Given the description of an element on the screen output the (x, y) to click on. 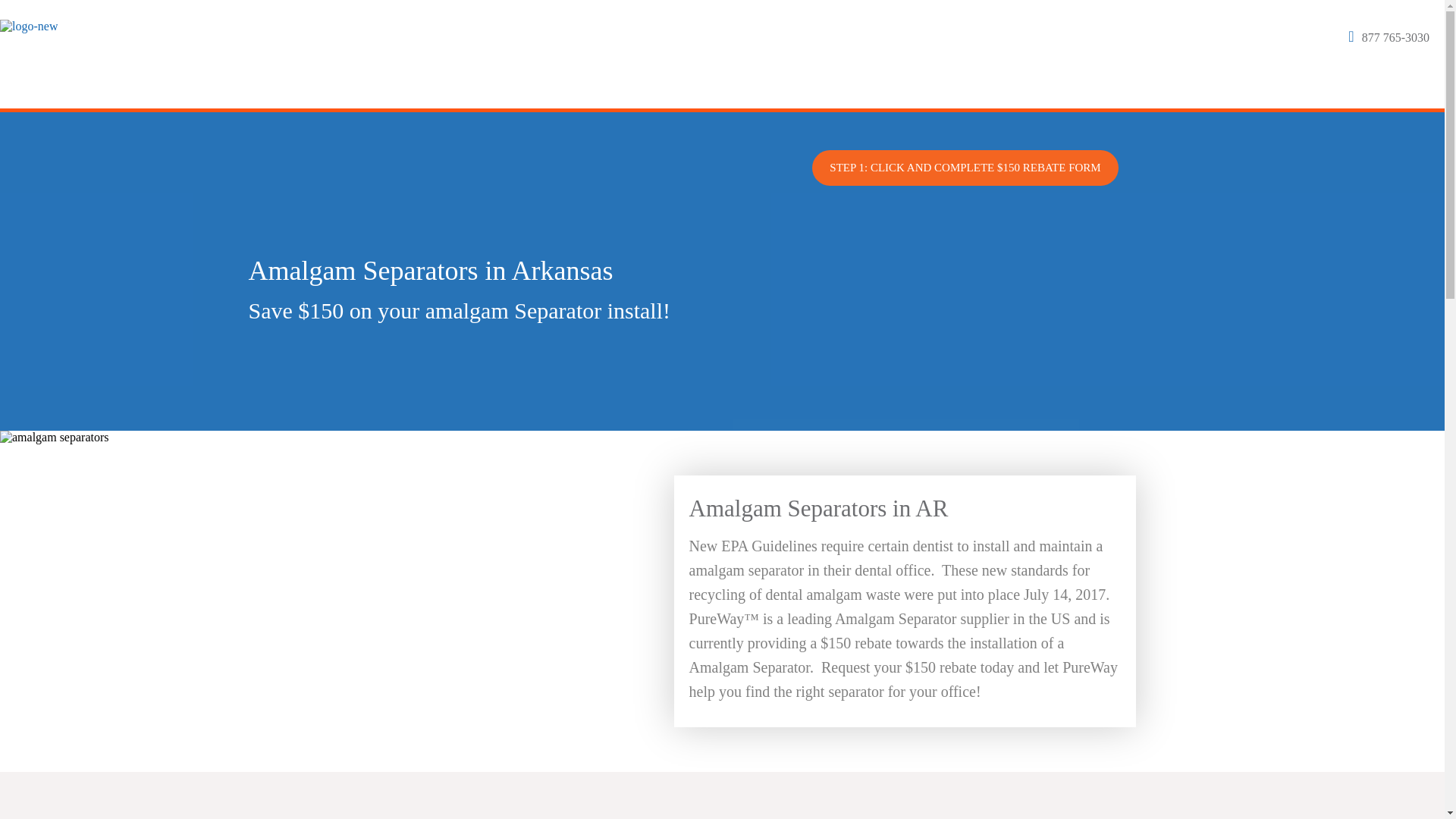
amalgam separators (54, 437)
877 765-3030 (1395, 37)
logo-new (29, 26)
banner-image.png (964, 164)
